Given the description of an element on the screen output the (x, y) to click on. 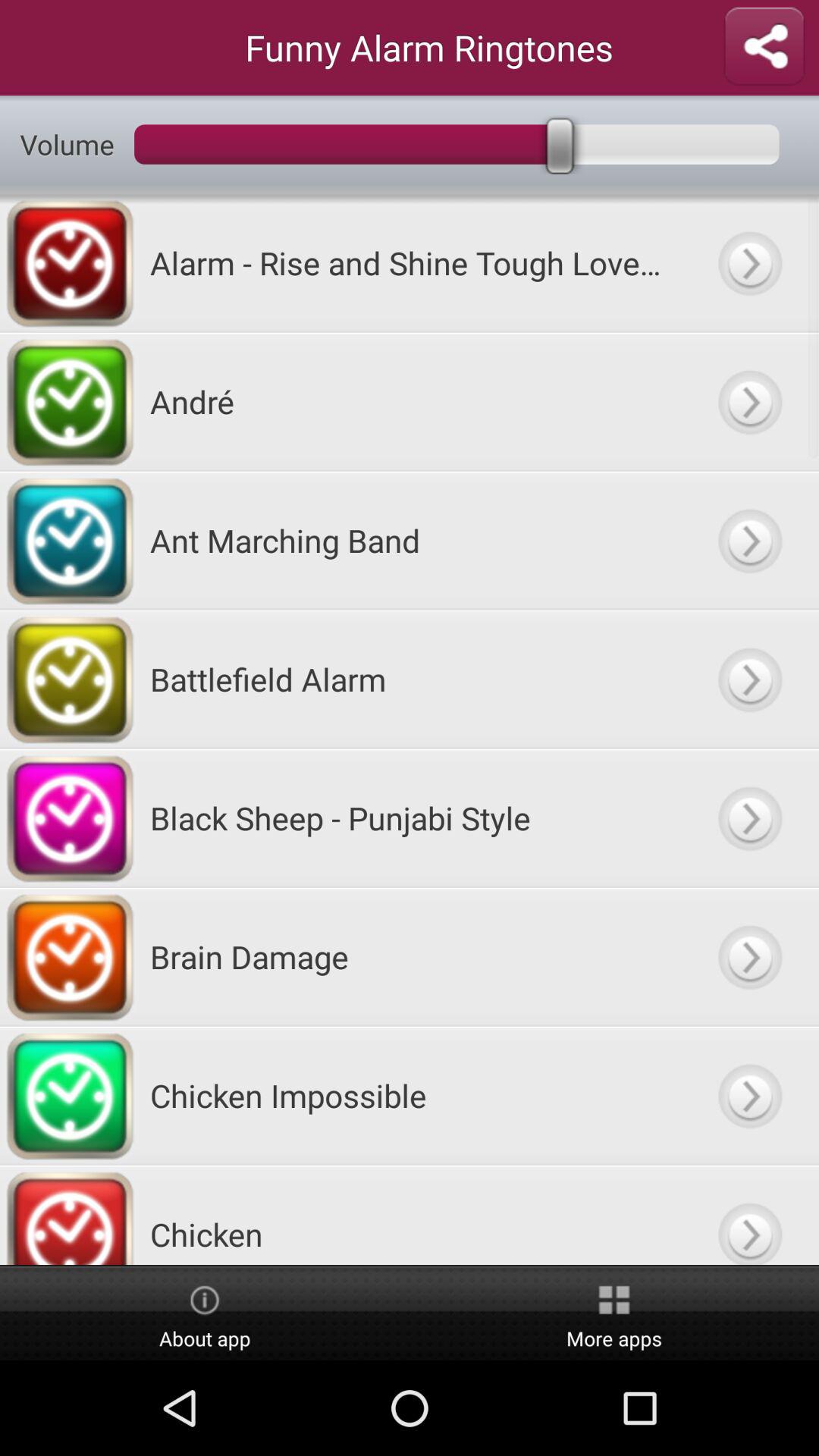
click on forward arrow which is front of chicken impossible (749, 1095)
